Given the description of an element on the screen output the (x, y) to click on. 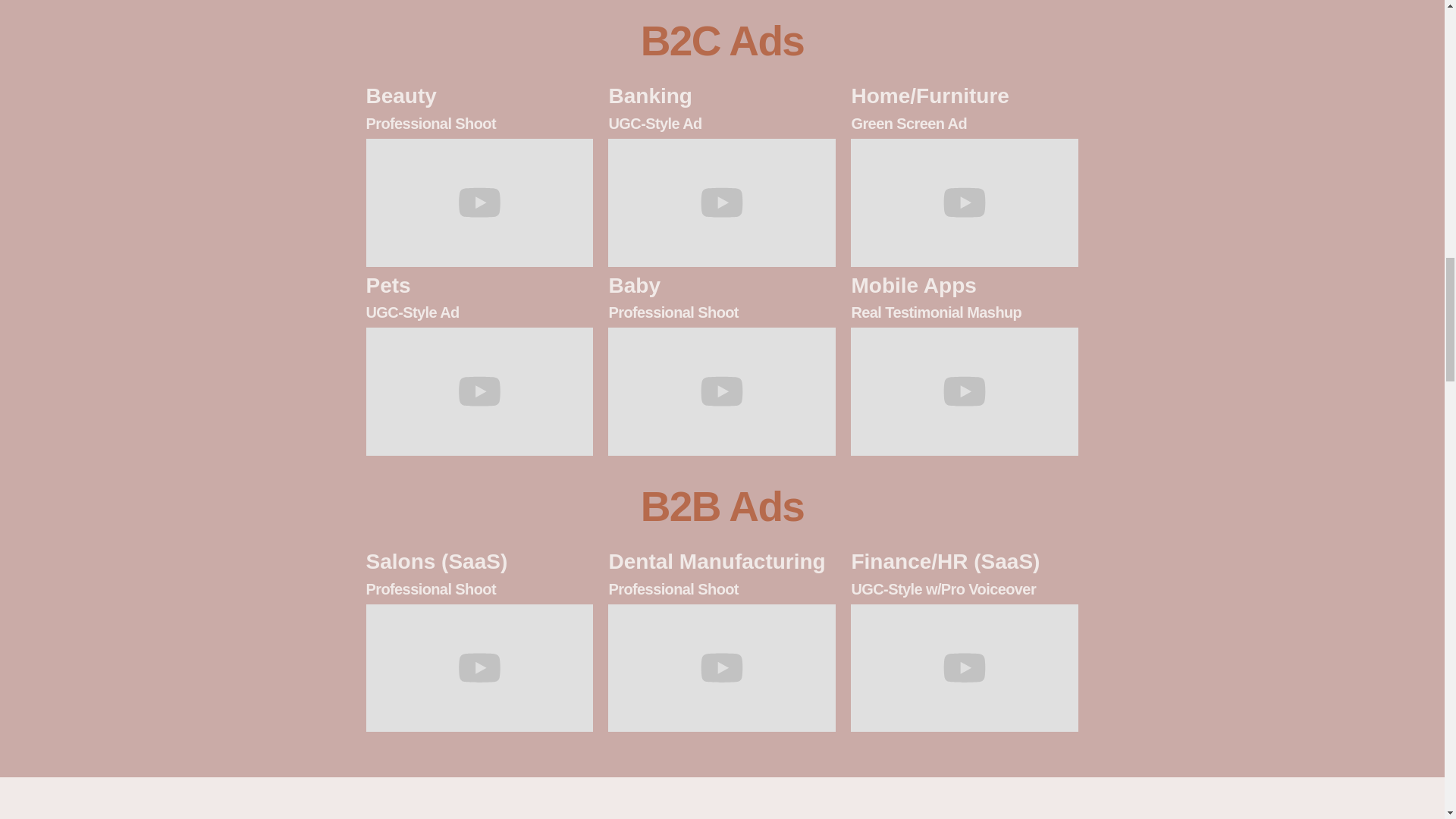
The Good Neighbour App - Testimonial Ad (964, 391)
Capt-all by Dove Dental - Video Ad (721, 668)
Interior Savings - Million Dollar Bursary (721, 202)
Aloe by Article - cart green screen ad (964, 202)
MoxieLash - Nano grip (478, 202)
Waggle Mail Subscription Box (478, 391)
salonMonster Video Ad (478, 668)
